Given the description of an element on the screen output the (x, y) to click on. 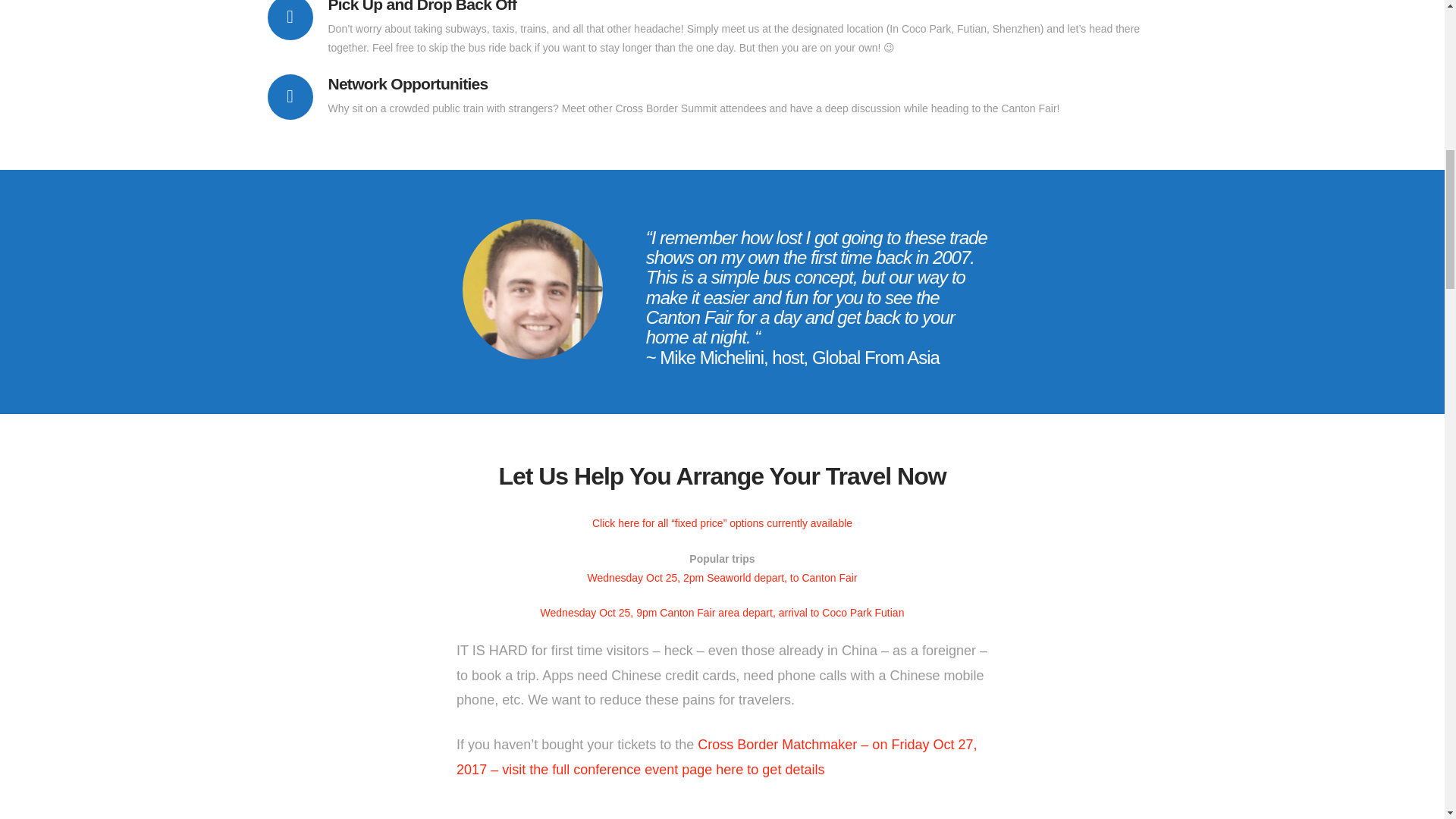
Wednesday Oct 25, 2pm Seaworld depart, to Canton Fair (721, 577)
